Given the description of an element on the screen output the (x, y) to click on. 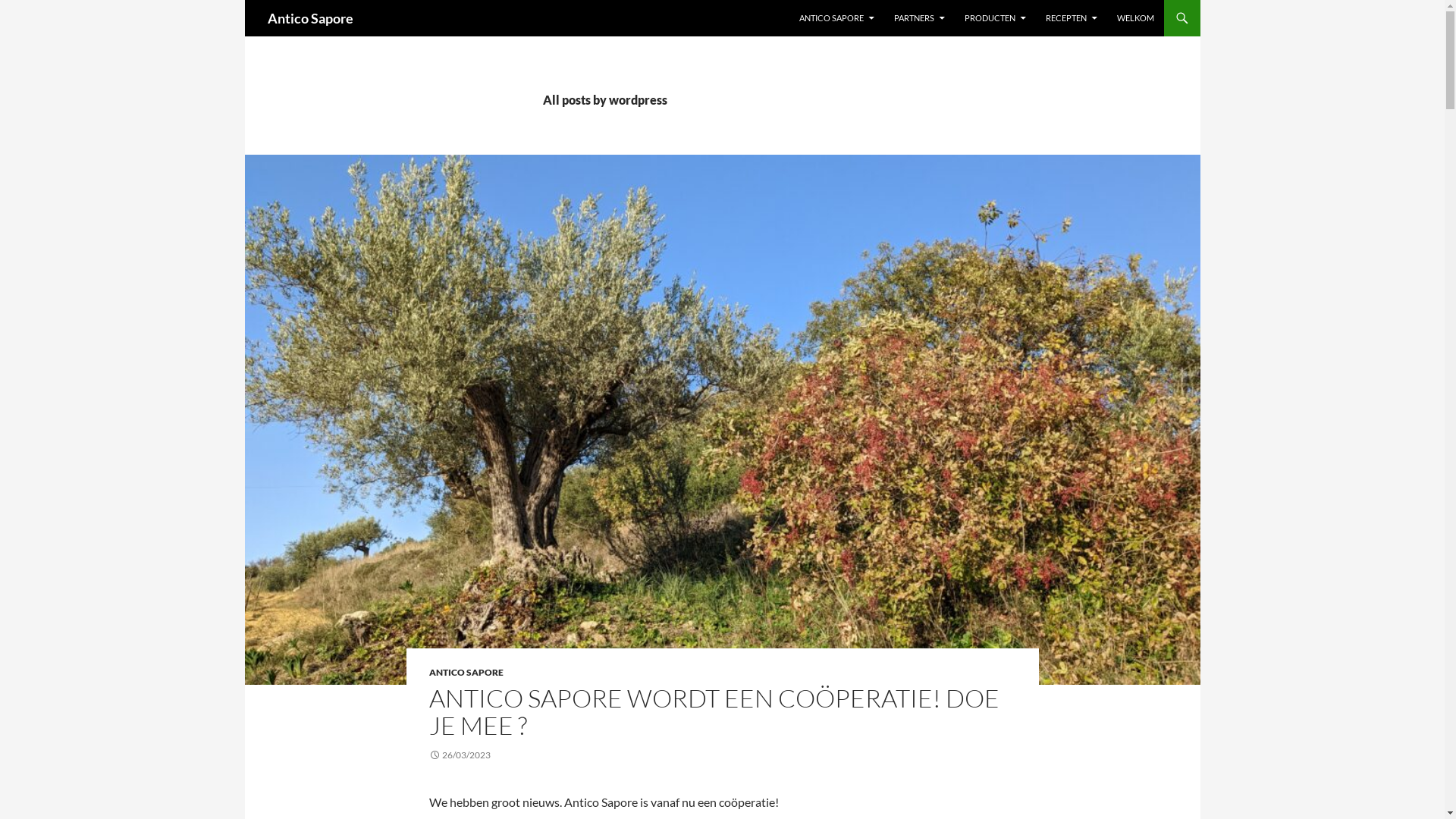
ANTICO SAPORE Element type: text (466, 671)
PARTNERS Element type: text (918, 18)
26/03/2023 Element type: text (459, 754)
ANTICO SAPORE Element type: text (836, 18)
Antico Sapore Element type: text (309, 18)
RECEPTEN Element type: text (1070, 18)
PRODUCTEN Element type: text (995, 18)
WELKOM Element type: text (1134, 18)
